Given the description of an element on the screen output the (x, y) to click on. 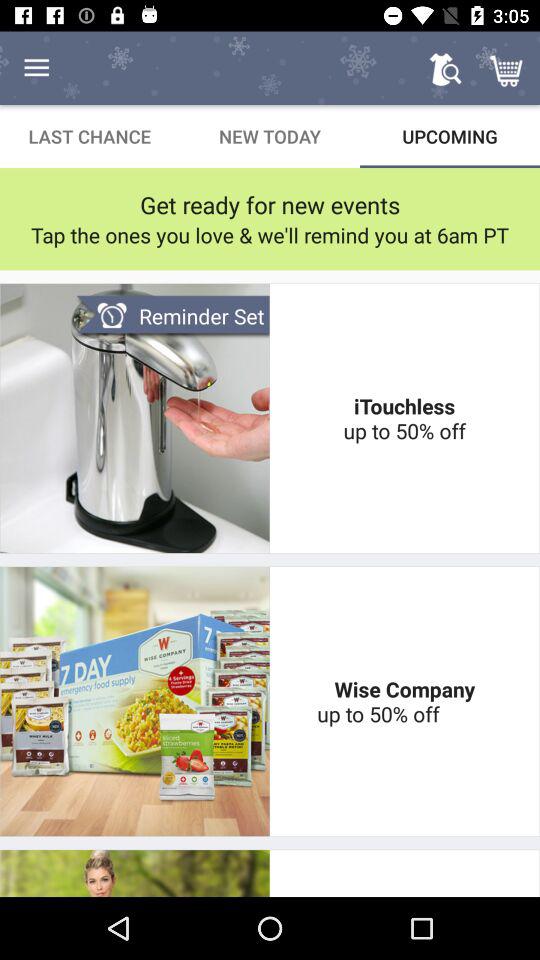
scroll to the itouchless up to icon (404, 418)
